Given the description of an element on the screen output the (x, y) to click on. 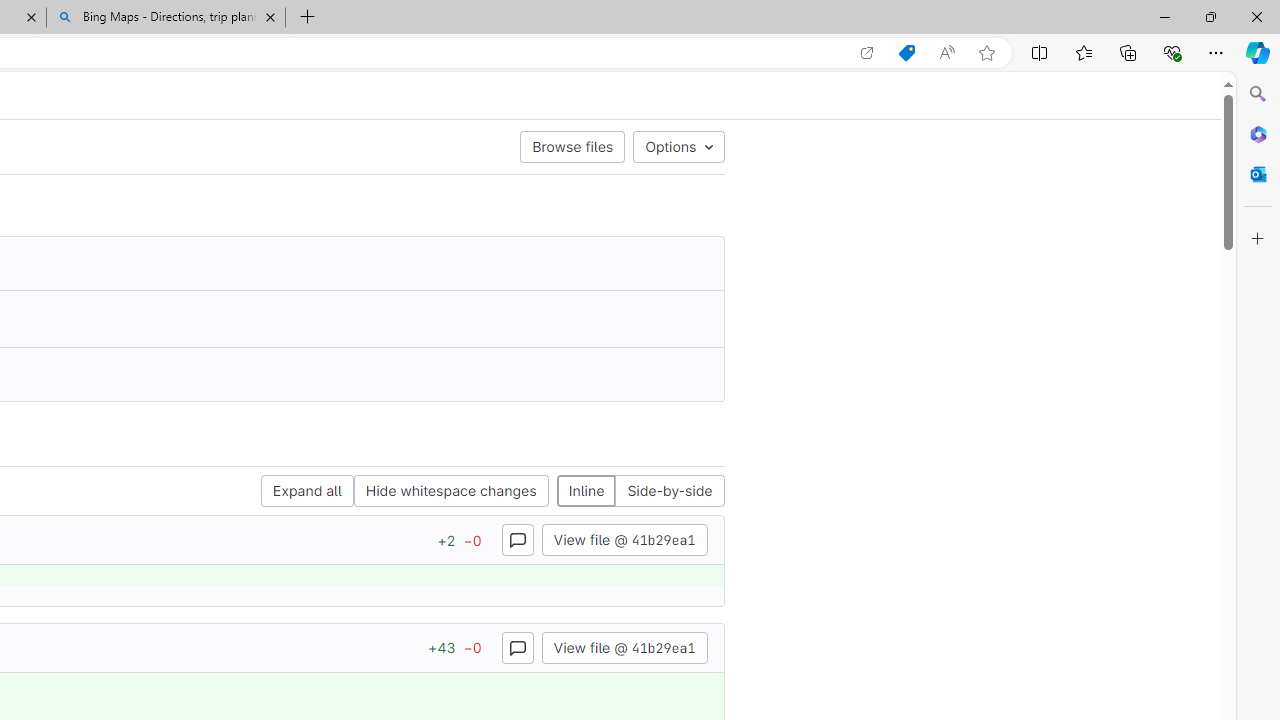
View file @ 41b29ea1 (624, 646)
Inline (585, 491)
Expand all (306, 491)
Hide whitespace changes (451, 491)
Side-by-side (669, 491)
Options (678, 146)
Toggle comments for this file (516, 646)
